Given the description of an element on the screen output the (x, y) to click on. 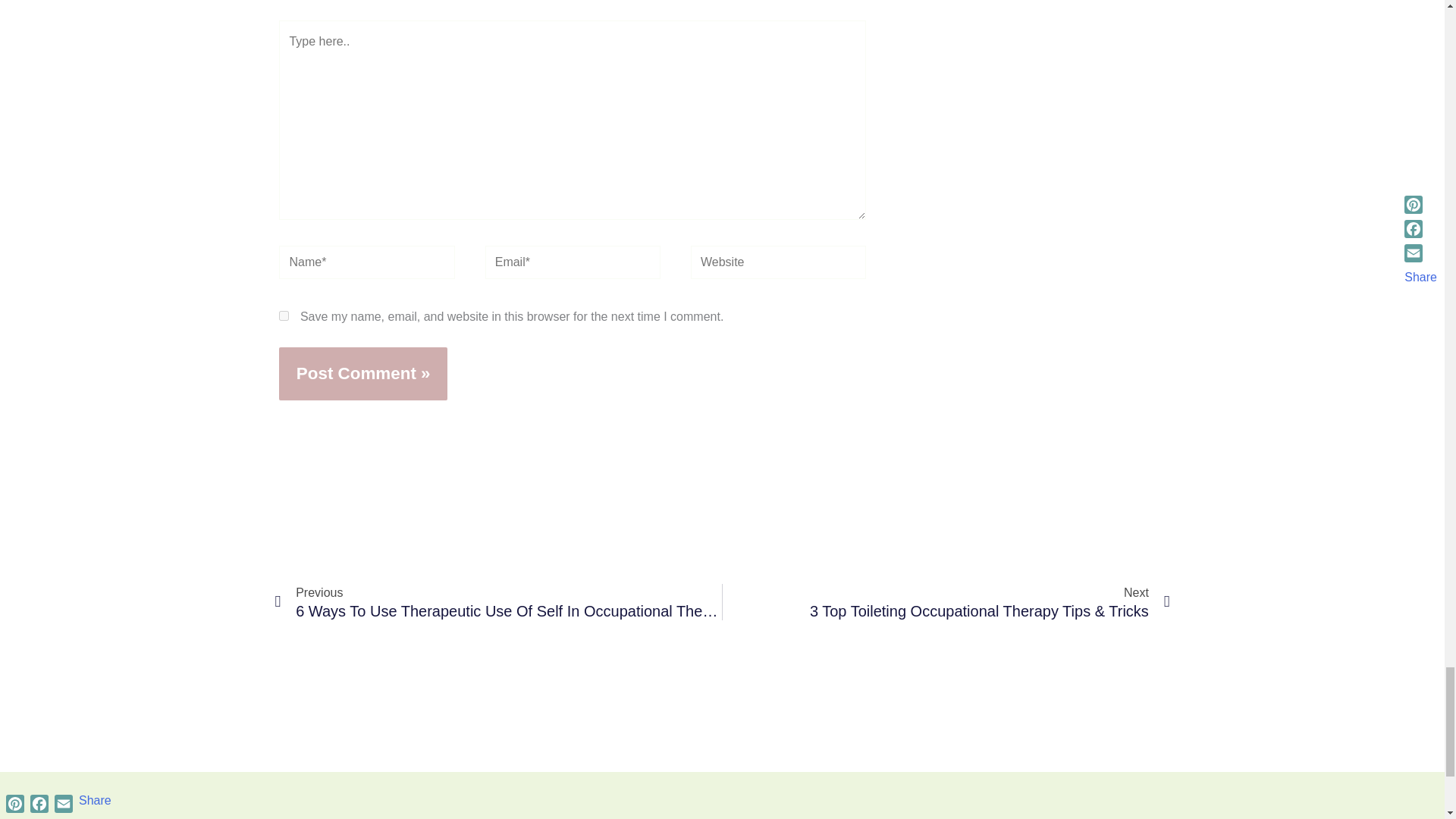
yes (283, 316)
